Given the description of an element on the screen output the (x, y) to click on. 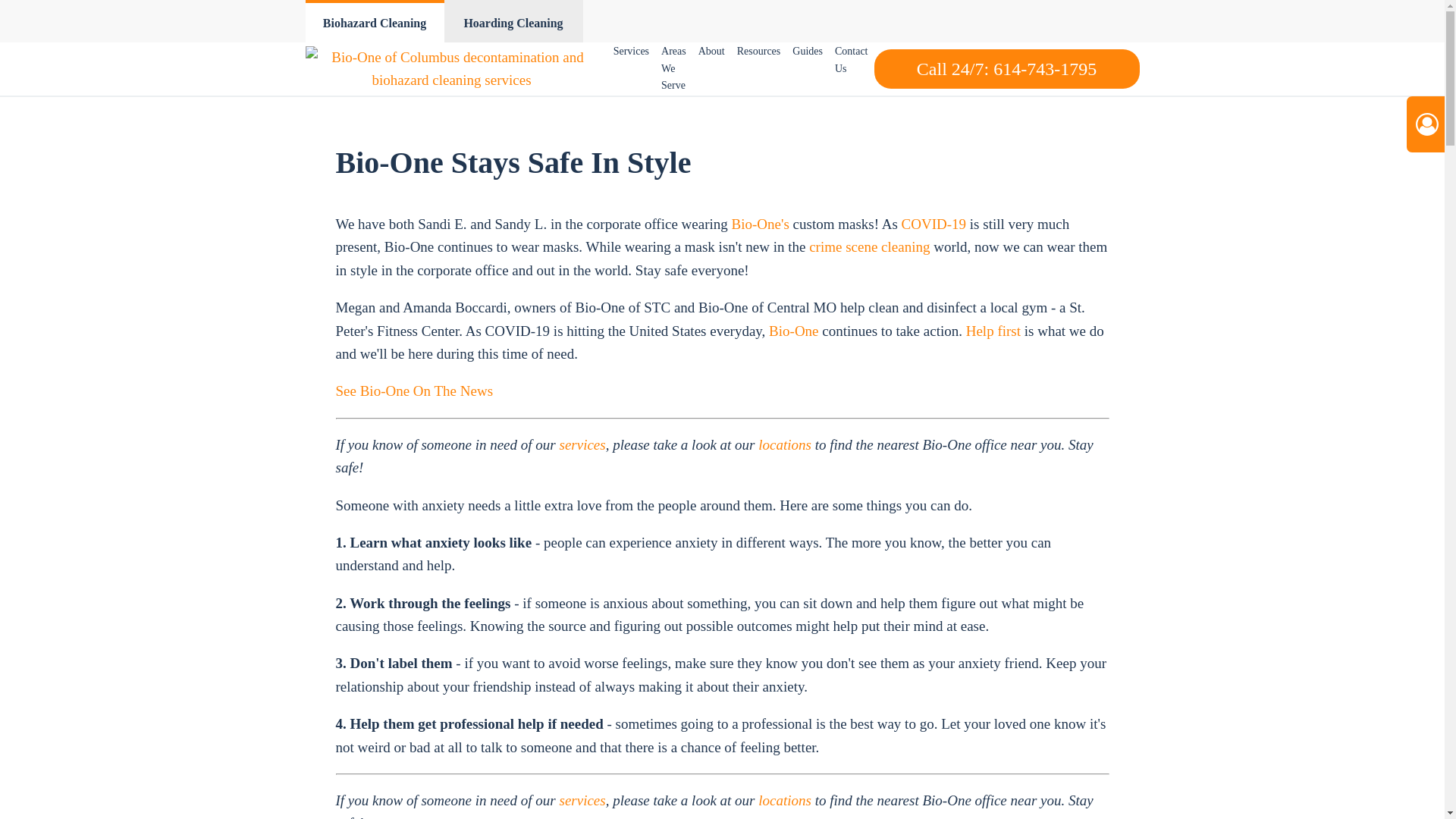
Contact Us (851, 59)
Areas We Serve (674, 67)
Biohazard Cleaning (374, 21)
About (711, 51)
Services (631, 51)
Guides (807, 51)
Hoarding Cleaning (513, 21)
Resources (758, 51)
